Given the description of an element on the screen output the (x, y) to click on. 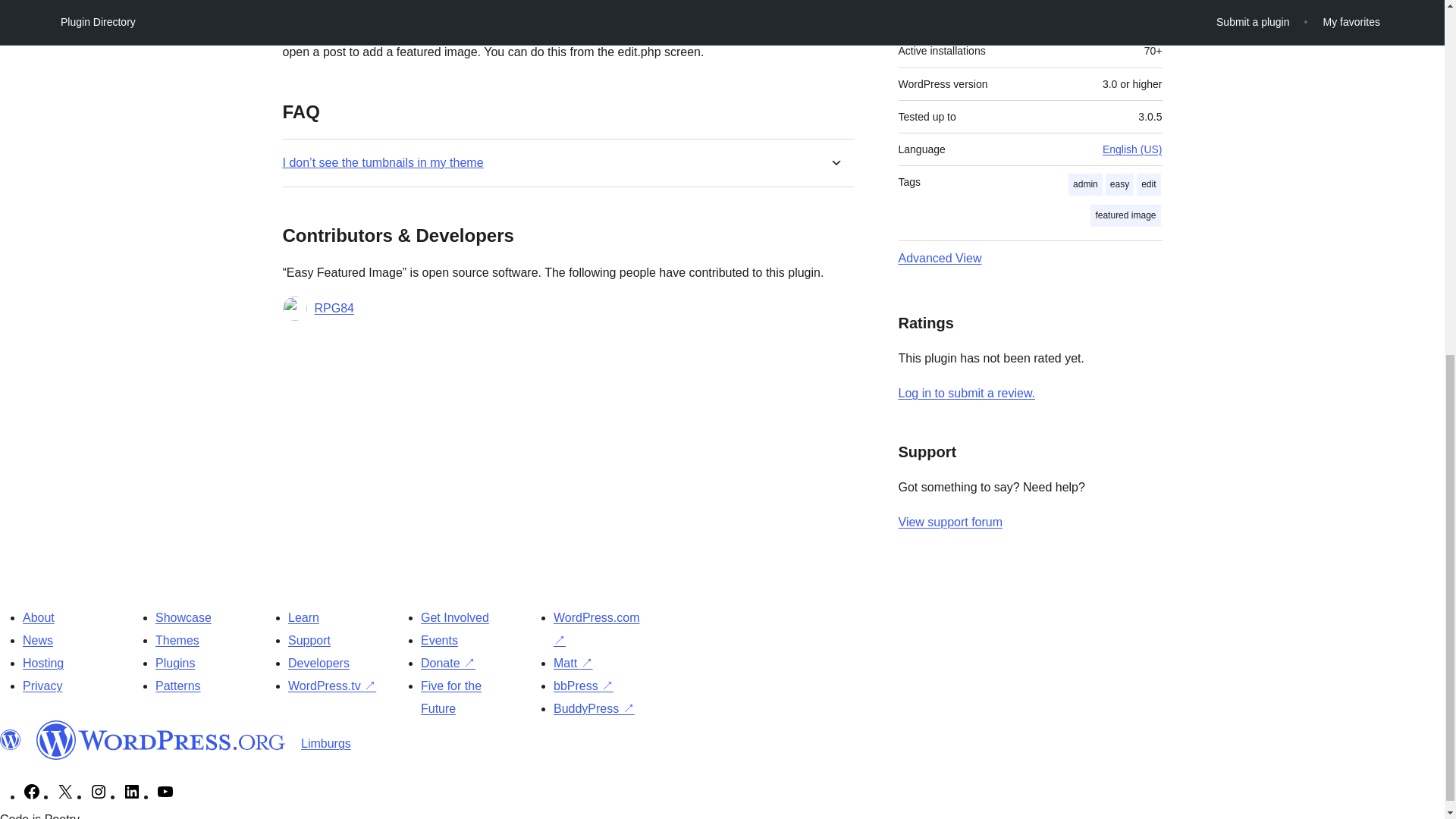
Log in to WordPress.org (966, 392)
WordPress.org (160, 740)
WordPress.org (10, 740)
RPG84 (333, 308)
